Given the description of an element on the screen output the (x, y) to click on. 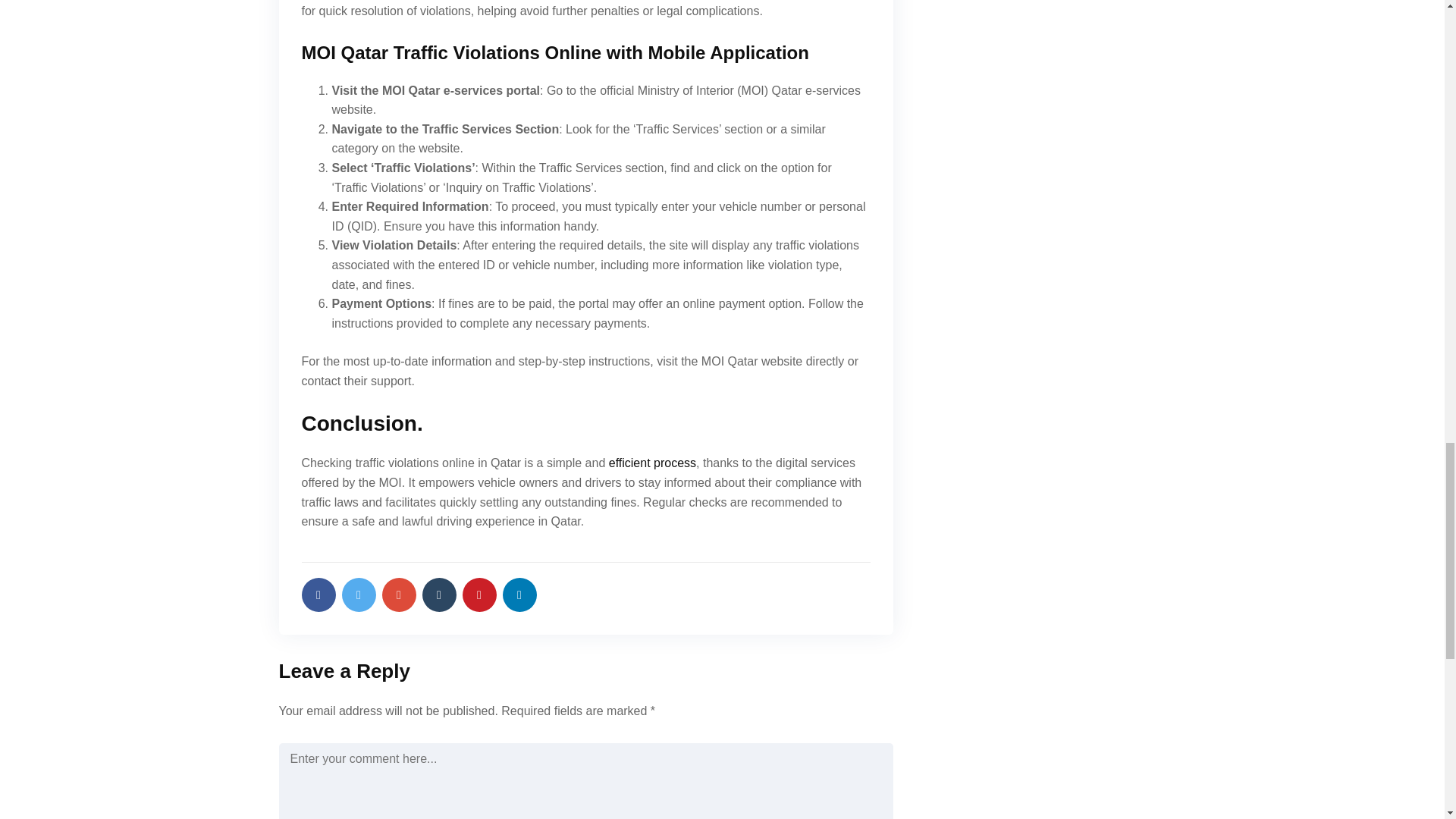
Share on Facebook (318, 594)
Share on Google Plus (398, 594)
efficient process (651, 462)
Share on Twitter (357, 594)
